Given the description of an element on the screen output the (x, y) to click on. 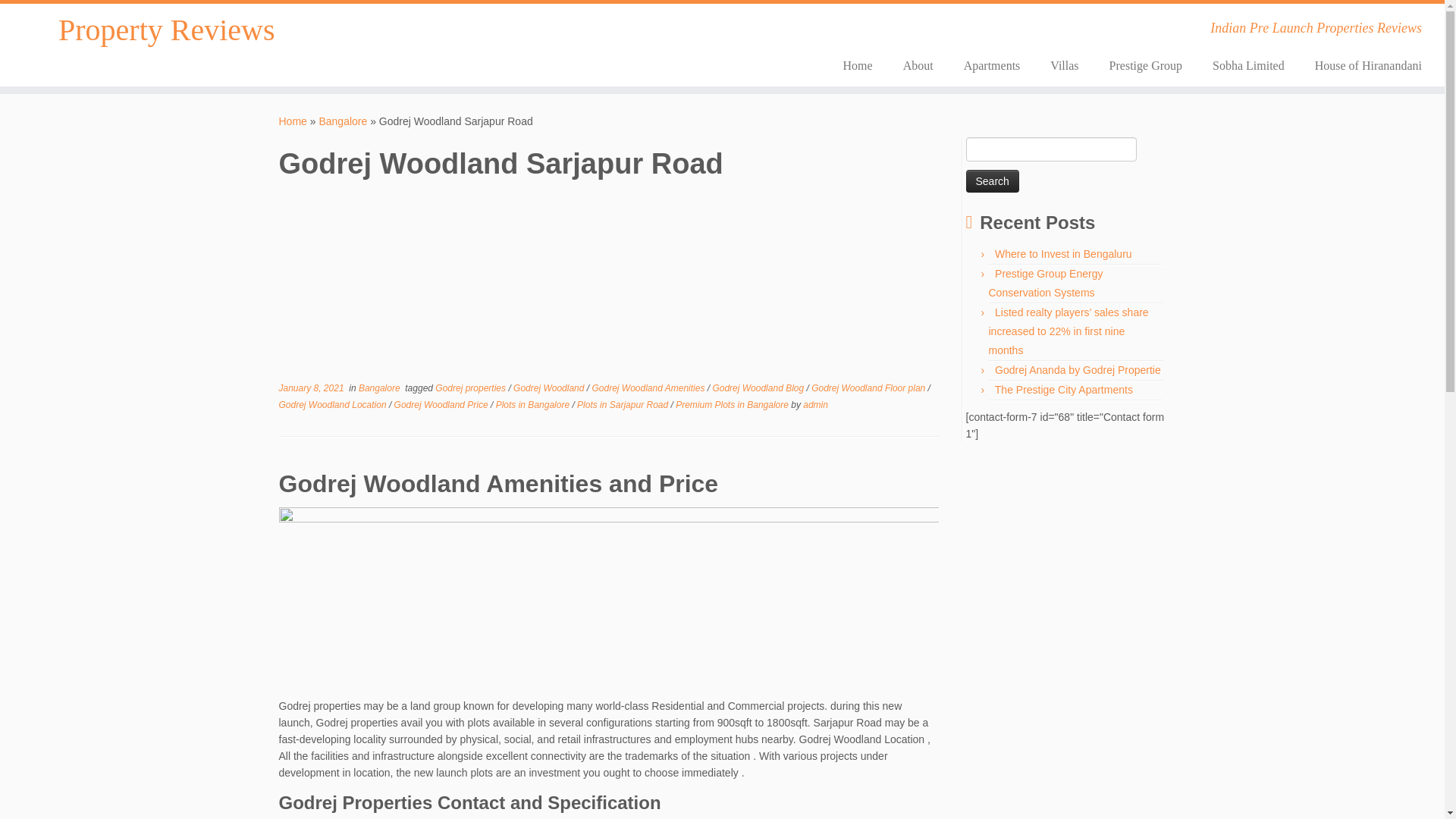
View all posts in Plots in Bangalore (534, 404)
House of Hiranandani (1361, 65)
Godrej properties (471, 388)
admin (815, 404)
Bangalore (342, 121)
Premium Plots in Bangalore (732, 404)
Home (858, 65)
Godrej Woodland (549, 388)
View all posts in Premium Plots in Bangalore (732, 404)
About (918, 65)
View all posts in Plots in Sarjapur Road (622, 404)
Sobha Limited (1248, 65)
Prestige Group Energy Conservation Systems (1045, 282)
View all posts in Godrej Woodland Floor plan (868, 388)
Godrej Ananda by Godrej Propertie (1077, 369)
